Given the description of an element on the screen output the (x, y) to click on. 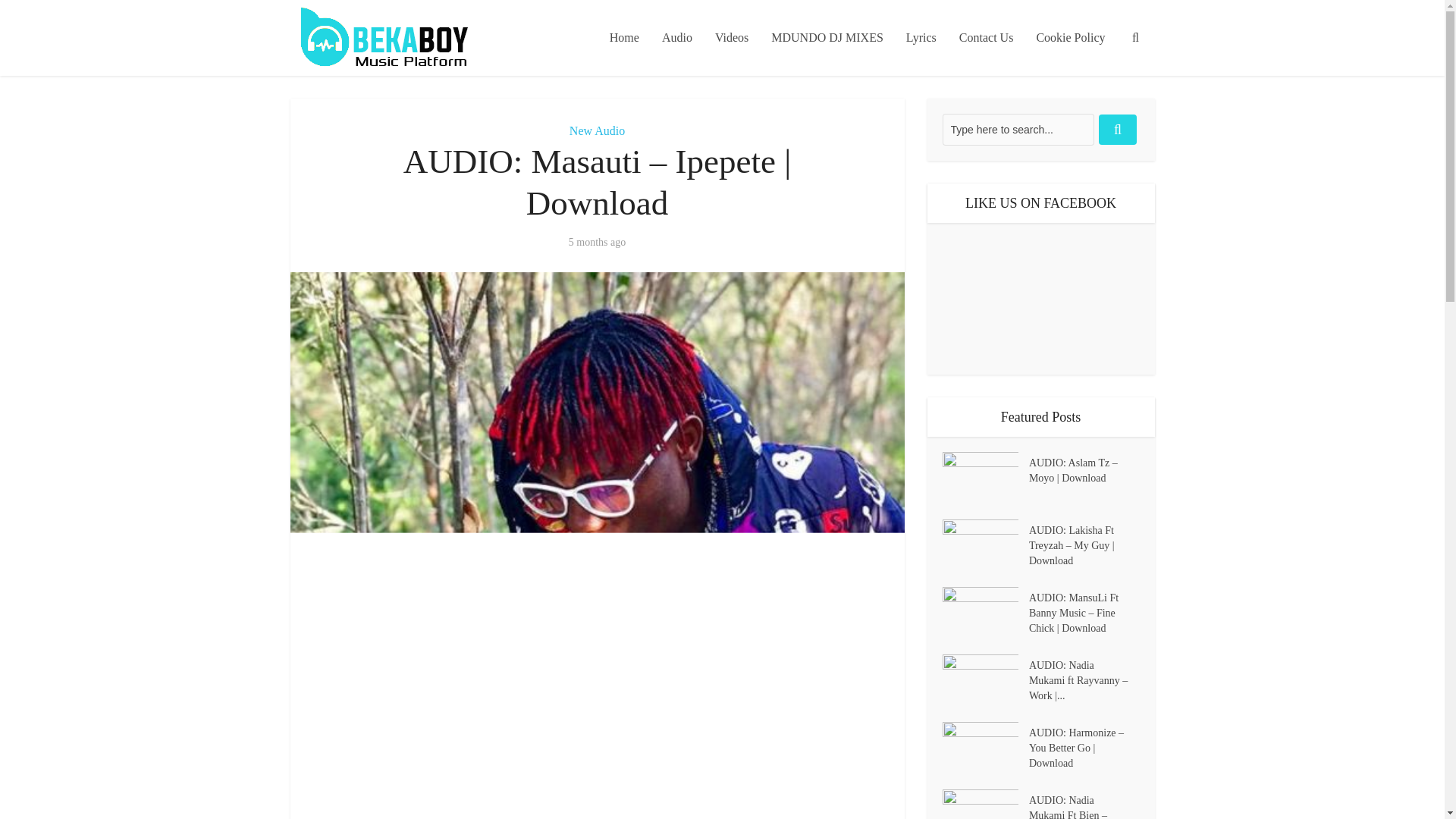
Contact Us (986, 38)
New Audio (596, 130)
Type here to search... (1017, 129)
Type here to search... (1017, 129)
Cookie Policy (1070, 38)
MDUNDO DJ MIXES (827, 38)
